Given the description of an element on the screen output the (x, y) to click on. 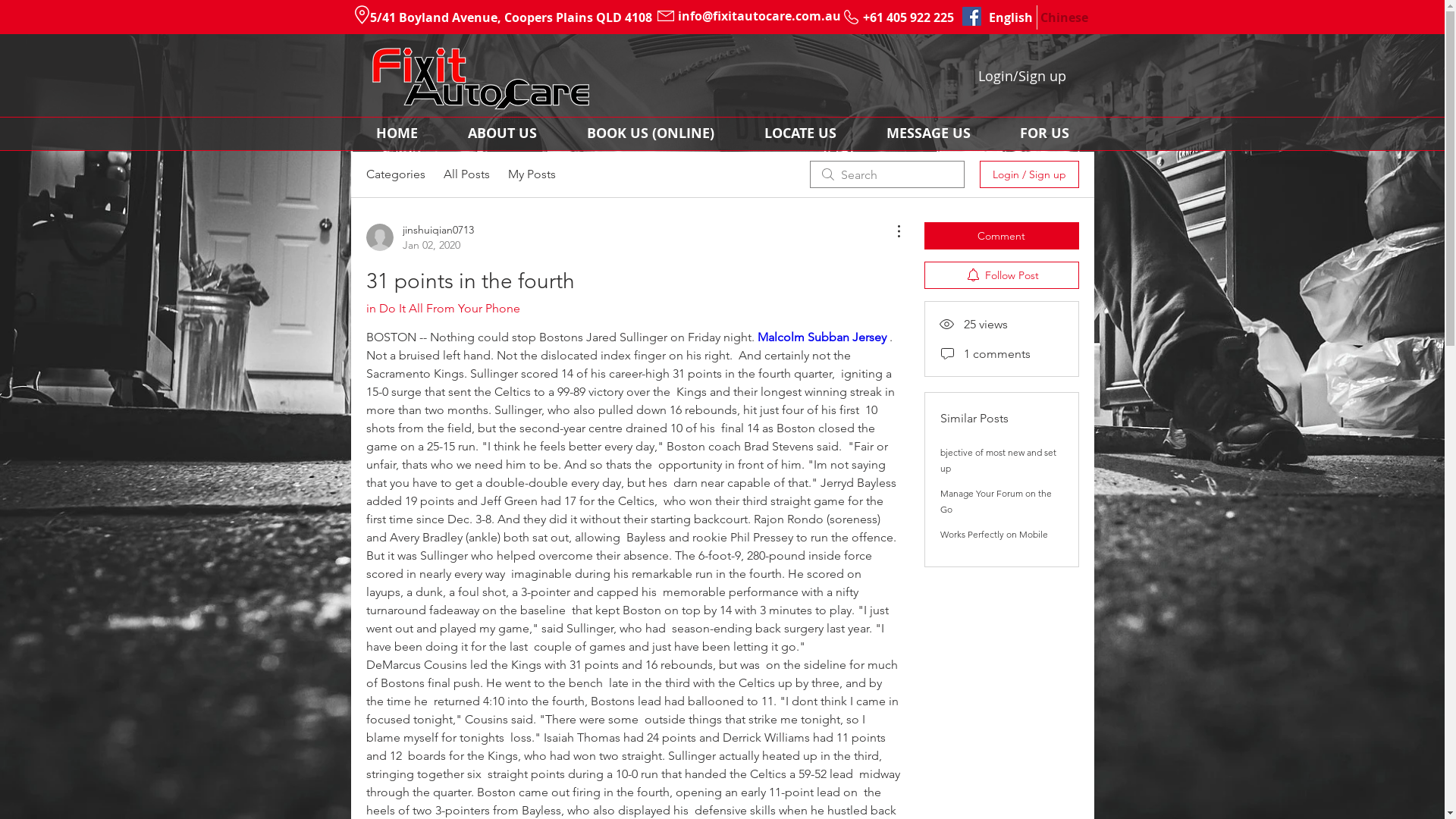
Works Perfectly on Mobile Element type: text (994, 533)
bjective of most new and set up Element type: text (998, 459)
BOOK US (ONLINE) Element type: text (649, 133)
English Element type: text (1010, 17)
Malcolm Subban Jersey Element type: text (820, 336)
5/41 Boyland Avenue, Coopers Plains QLD 4108 Element type: text (510, 17)
All Posts Element type: text (465, 174)
Chinese Element type: text (1063, 17)
HOME Element type: text (396, 133)
FOR US Element type: text (1043, 133)
Manage Your Forum on the Go Element type: text (995, 500)
My Posts Element type: text (531, 174)
MESSAGE US Element type: text (928, 133)
+61 405 922 225 Element type: text (907, 17)
Follow Post Element type: text (1000, 274)
Login/Sign up Element type: text (1022, 75)
Comment Element type: text (1000, 235)
Categories Element type: text (394, 174)
in Do It All From Your Phone Element type: text (442, 308)
Login / Sign up Element type: text (1029, 174)
LOCATE US Element type: text (799, 133)
ABOUT US Element type: text (501, 133)
info@fixitautocare.com.au Element type: text (758, 15)
